Given the description of an element on the screen output the (x, y) to click on. 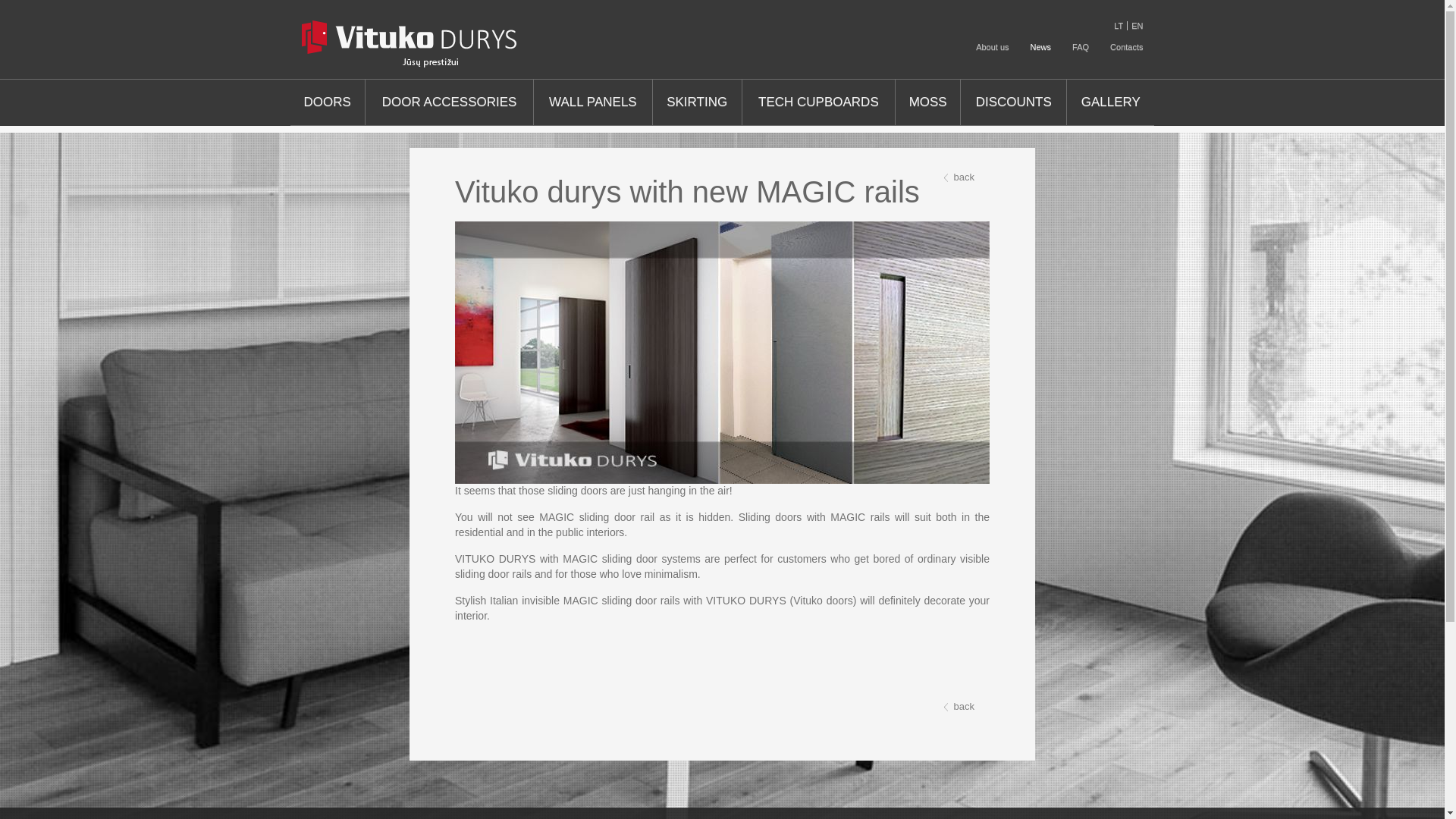
News (1041, 46)
English (1134, 25)
SKIRTING (696, 102)
MOSS (927, 102)
TECH CUPBOARDS (818, 102)
GALLERY (1110, 102)
DOORS (326, 102)
WALL PANELS (592, 102)
back (958, 707)
LT (1117, 25)
About us (992, 46)
Contacts (1120, 46)
back (958, 177)
DISCOUNTS (1012, 102)
DOOR ACCESSORIES (448, 102)
